Given the description of an element on the screen output the (x, y) to click on. 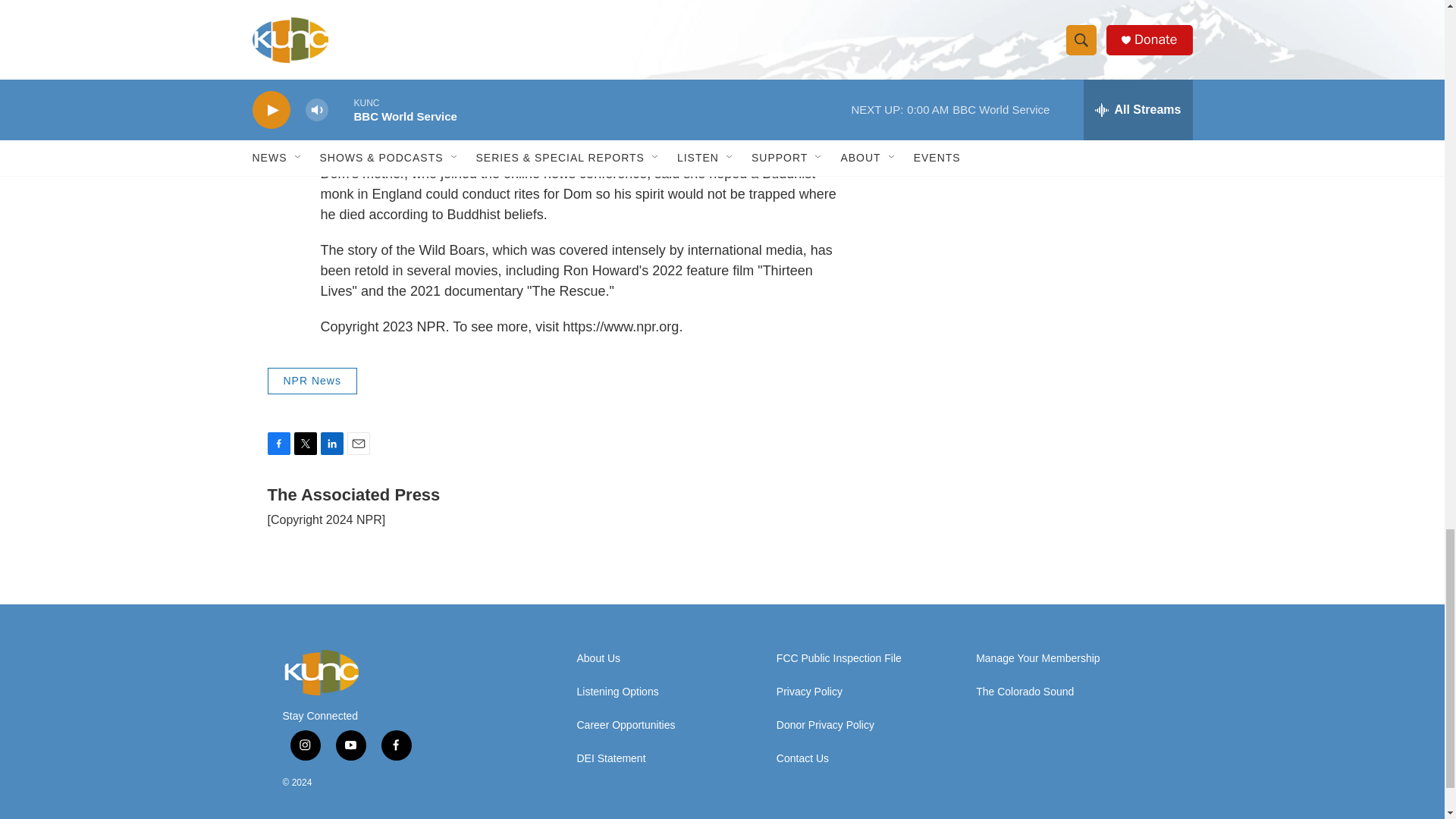
Subscribe (1017, 10)
